Given the description of an element on the screen output the (x, y) to click on. 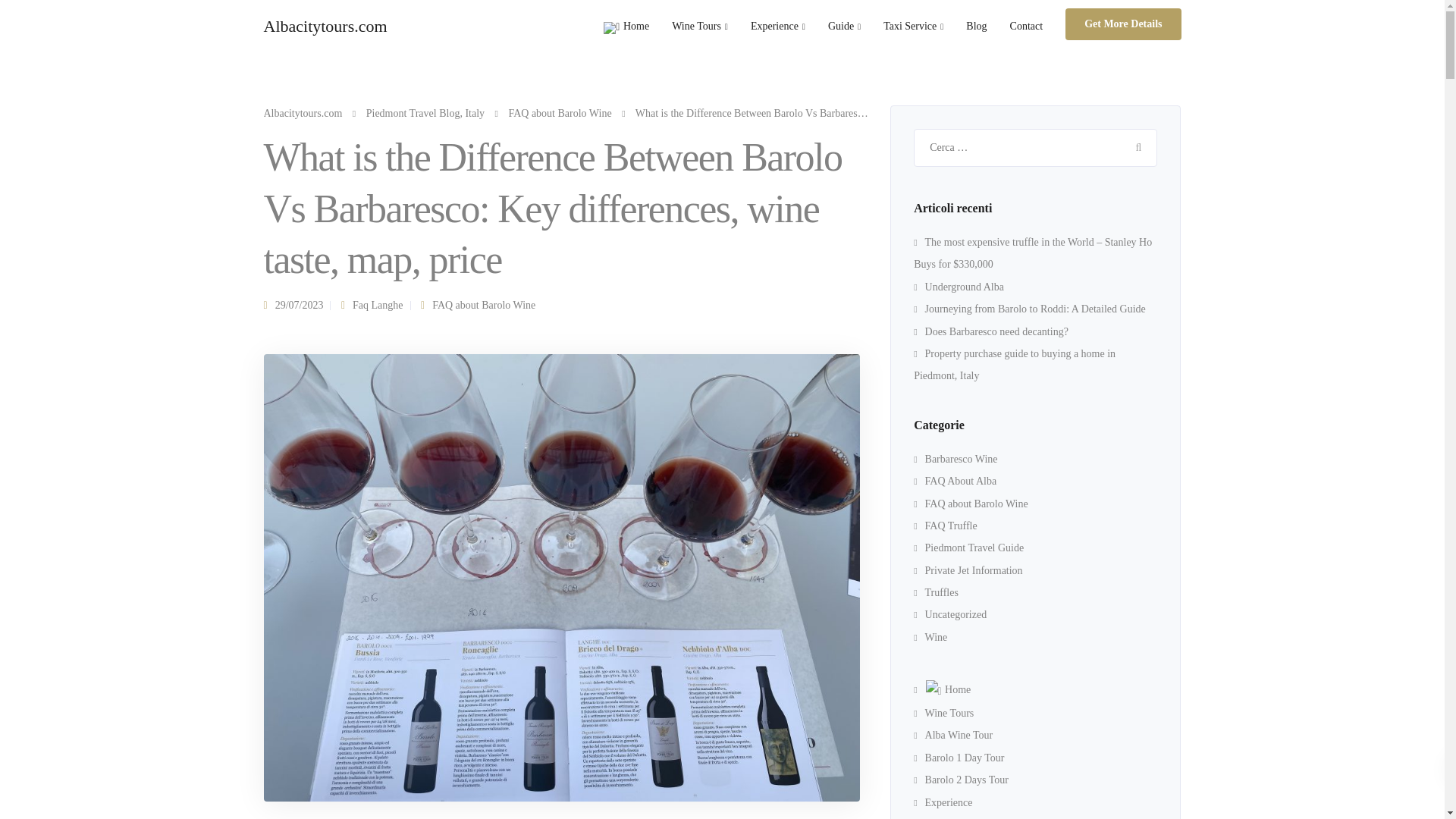
Guide (844, 25)
Albacitytours.com (325, 25)
Wine Tours (700, 25)
Home (626, 27)
Experience (777, 25)
Guide (844, 25)
Experience (777, 25)
Wine Tours (700, 25)
